Given the description of an element on the screen output the (x, y) to click on. 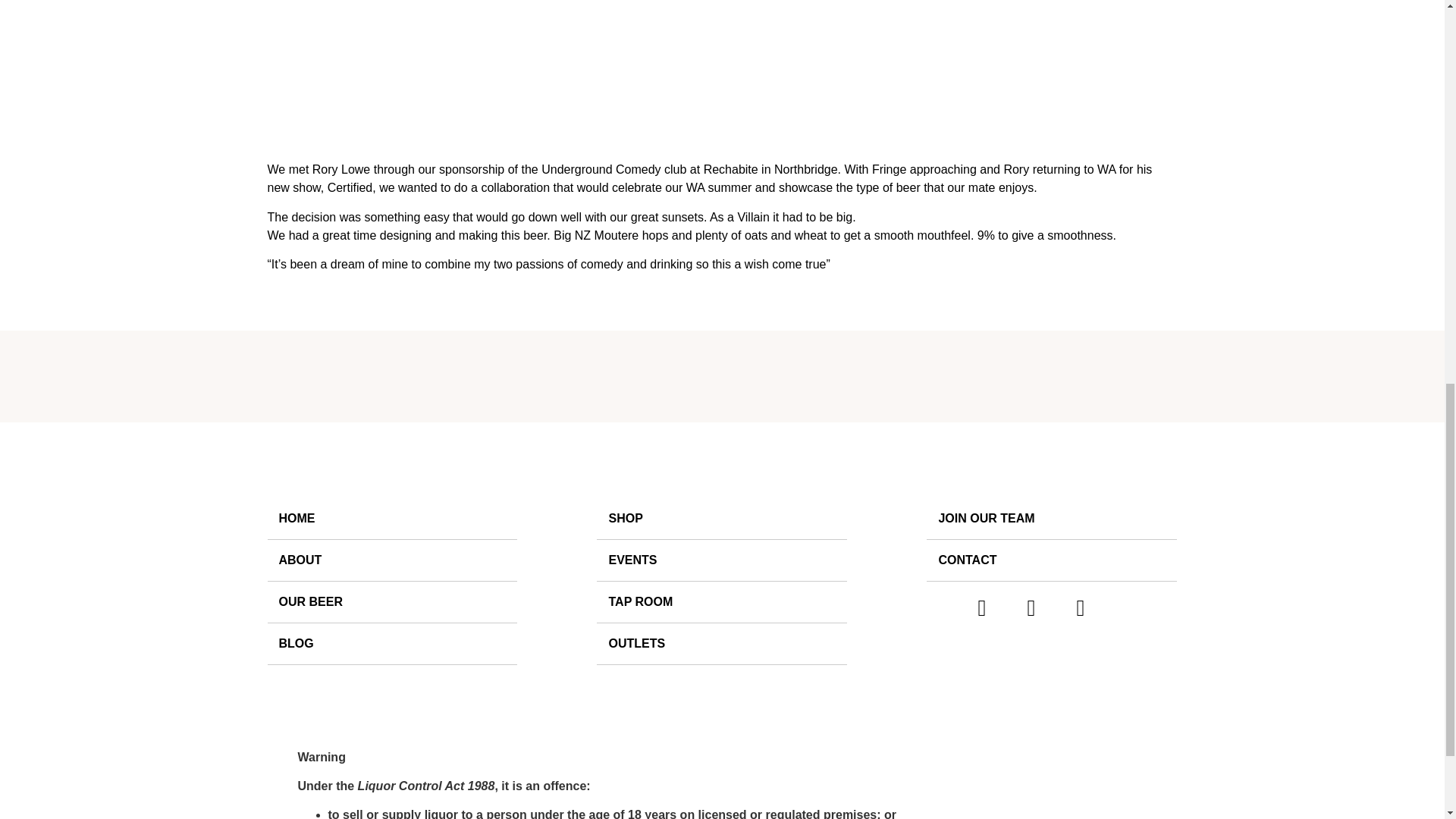
OUR BEER (391, 602)
BLOG (391, 644)
OUTLETS (721, 644)
EVENTS (721, 560)
SHOP (721, 518)
HOME (391, 518)
CONTACT (1051, 560)
JOIN OUR TEAM (1051, 518)
TAP ROOM (721, 602)
ABOUT (391, 560)
